Given the description of an element on the screen output the (x, y) to click on. 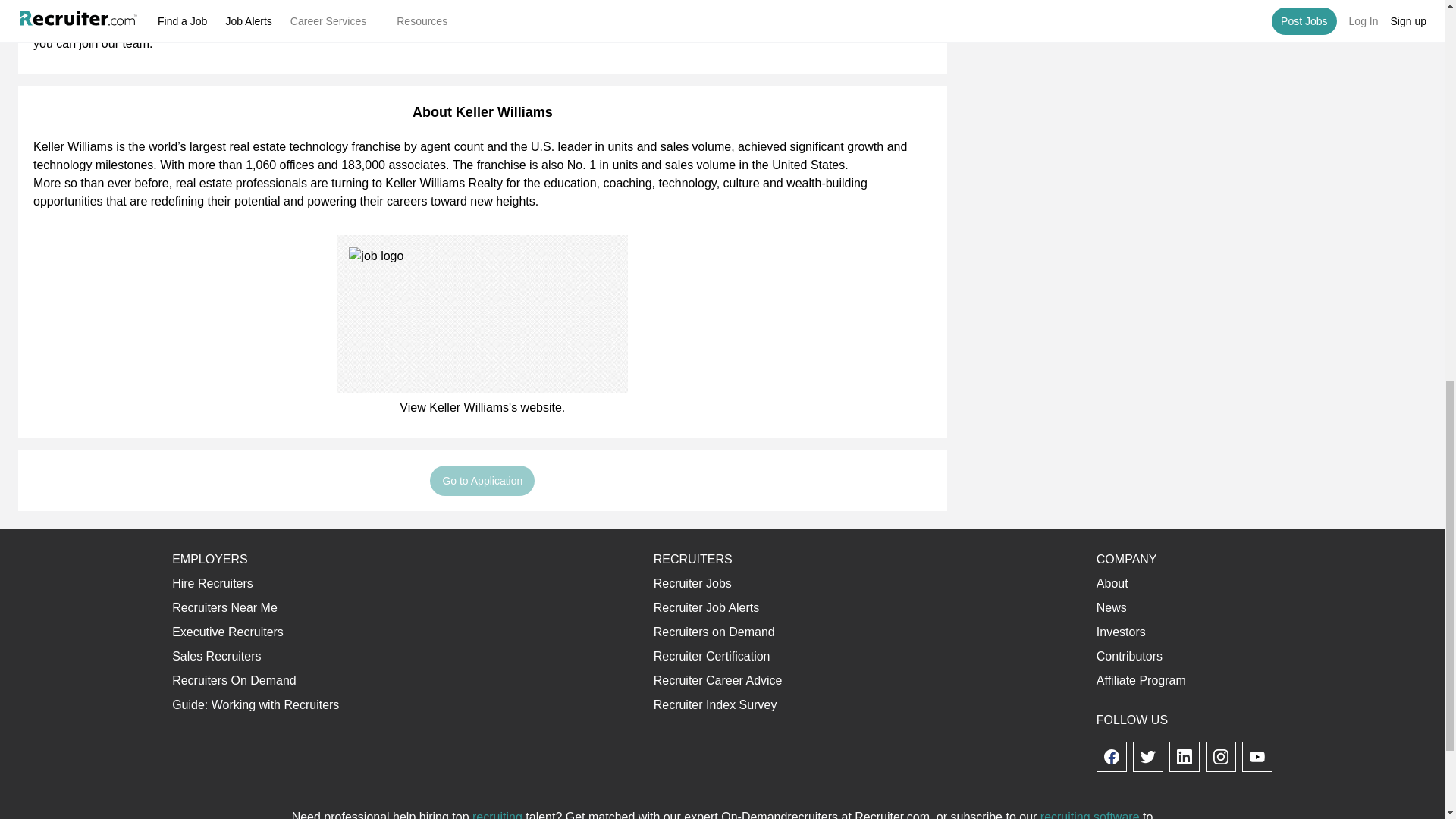
Hire Recruiters (212, 583)
Guide: Working with Recruiters (255, 704)
Go to Application (481, 481)
Recruiter Jobs (692, 583)
Affiliate Program (1141, 680)
Executive Recruiters (227, 631)
Recruiter Career Advice (718, 680)
Recruiters Near Me (224, 607)
Recruiter Index Survey (715, 704)
View Keller Williams's website. (481, 408)
Recruiters on Demand (713, 631)
Investors (1120, 631)
Contributors (1128, 656)
Sales Recruiters (215, 656)
About (1112, 583)
